Given the description of an element on the screen output the (x, y) to click on. 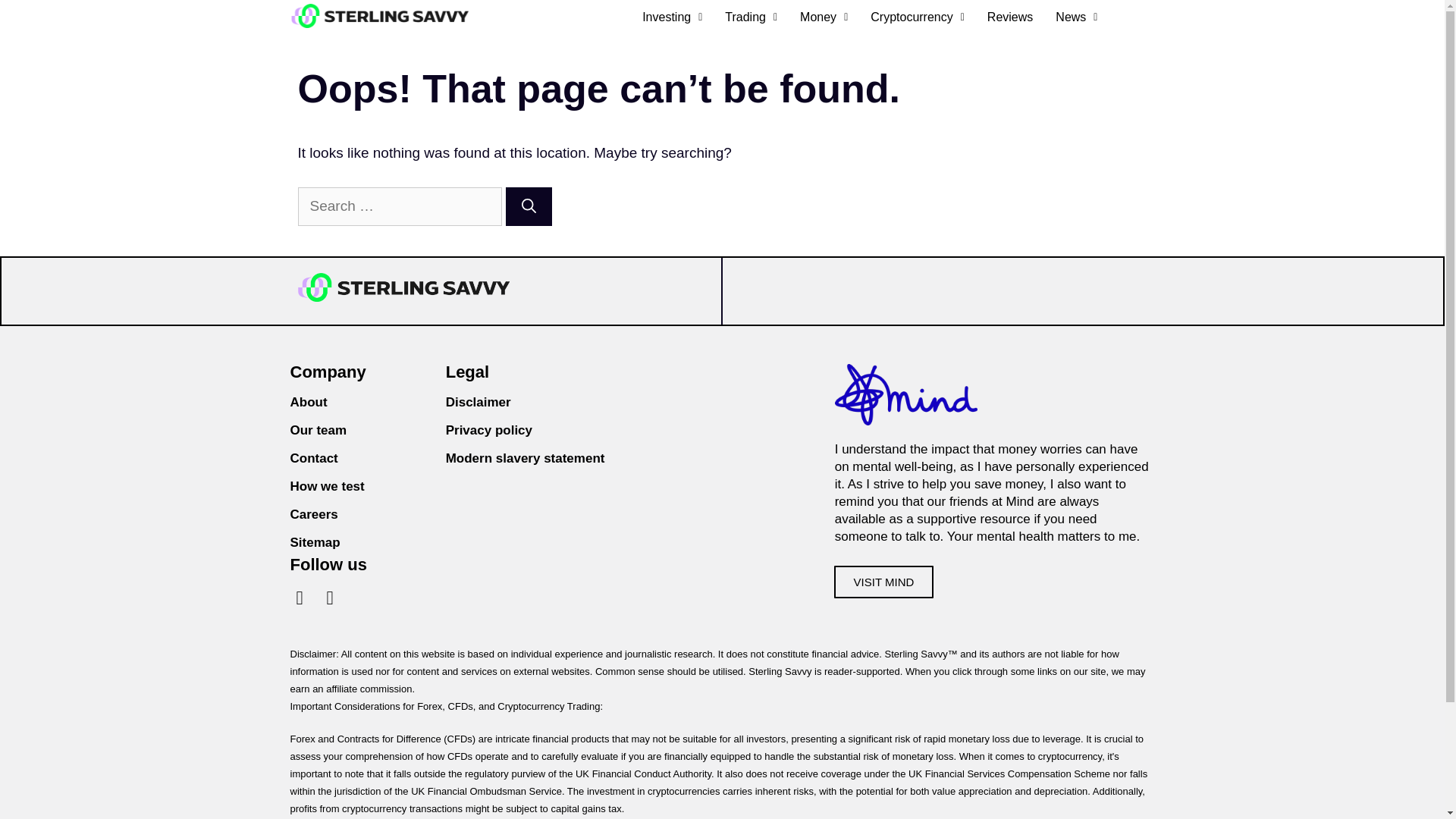
Cryptocurrency (917, 17)
Money (824, 17)
Investing (671, 17)
Search for: (398, 206)
Trading (751, 17)
